Given the description of an element on the screen output the (x, y) to click on. 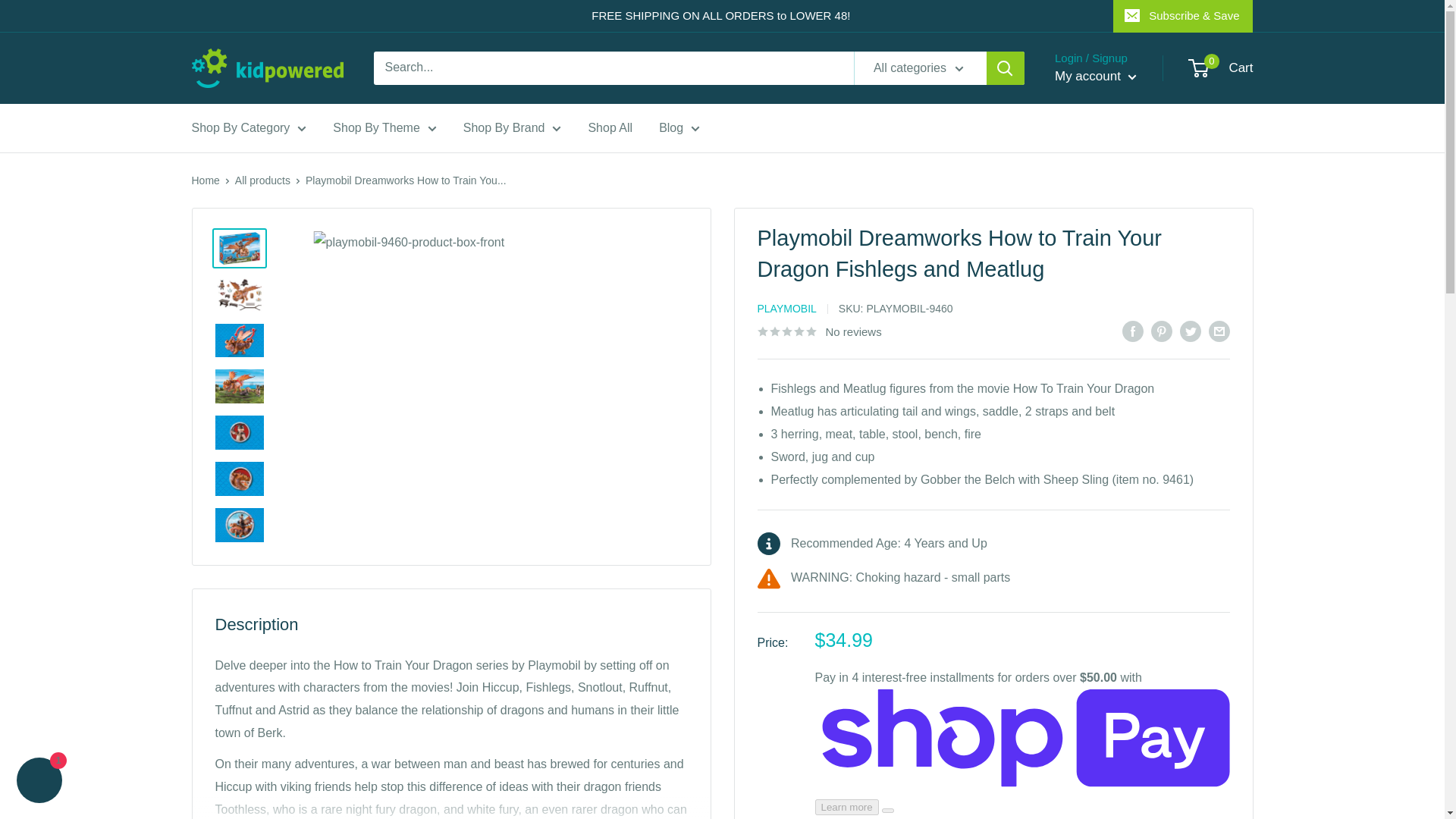
Shopify online store chat (38, 781)
